Given the description of an element on the screen output the (x, y) to click on. 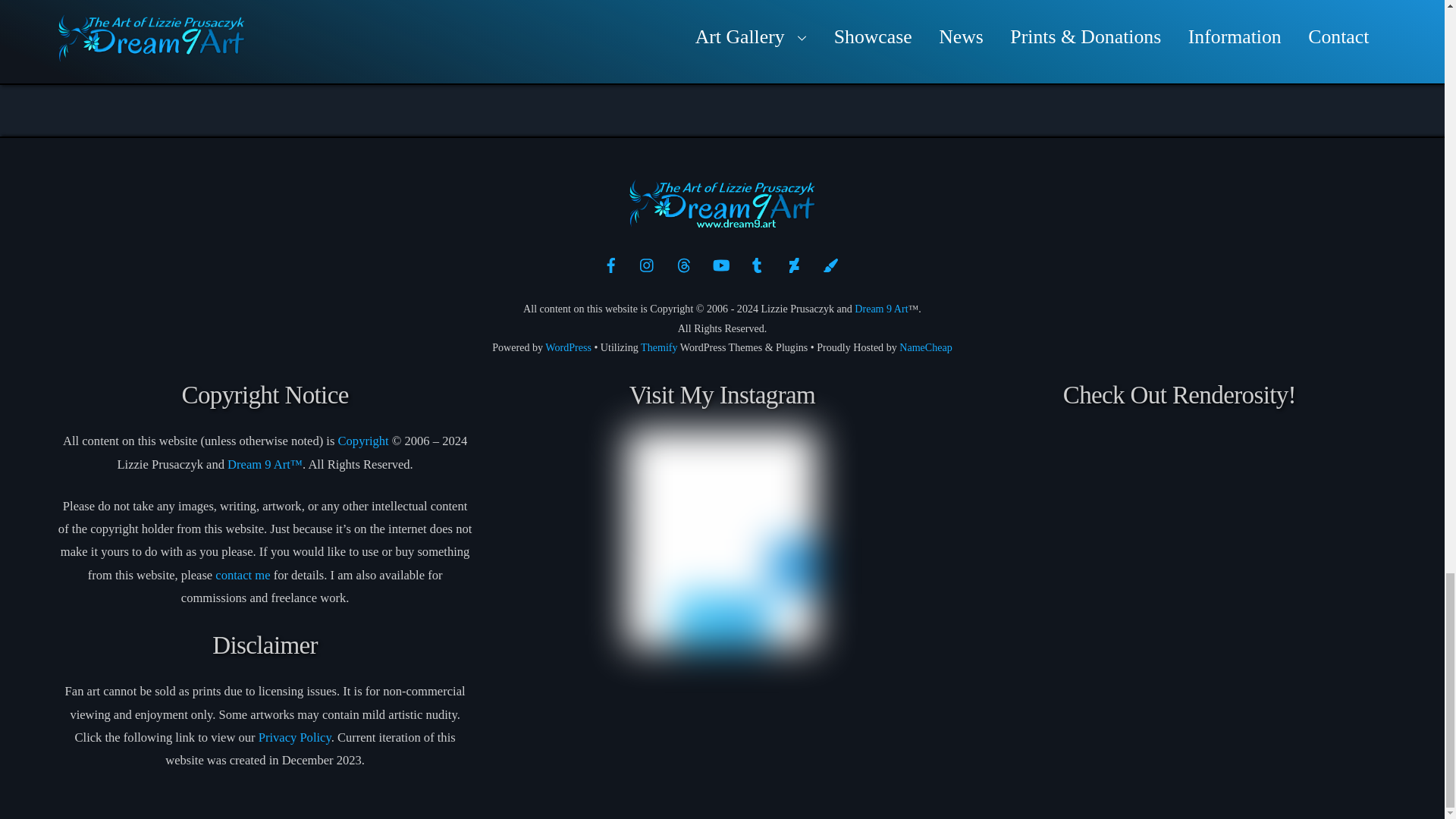
Dream 9 Art (721, 221)
Find 3D models and 3D modeling resources at Renderosity (1179, 615)
